Given the description of an element on the screen output the (x, y) to click on. 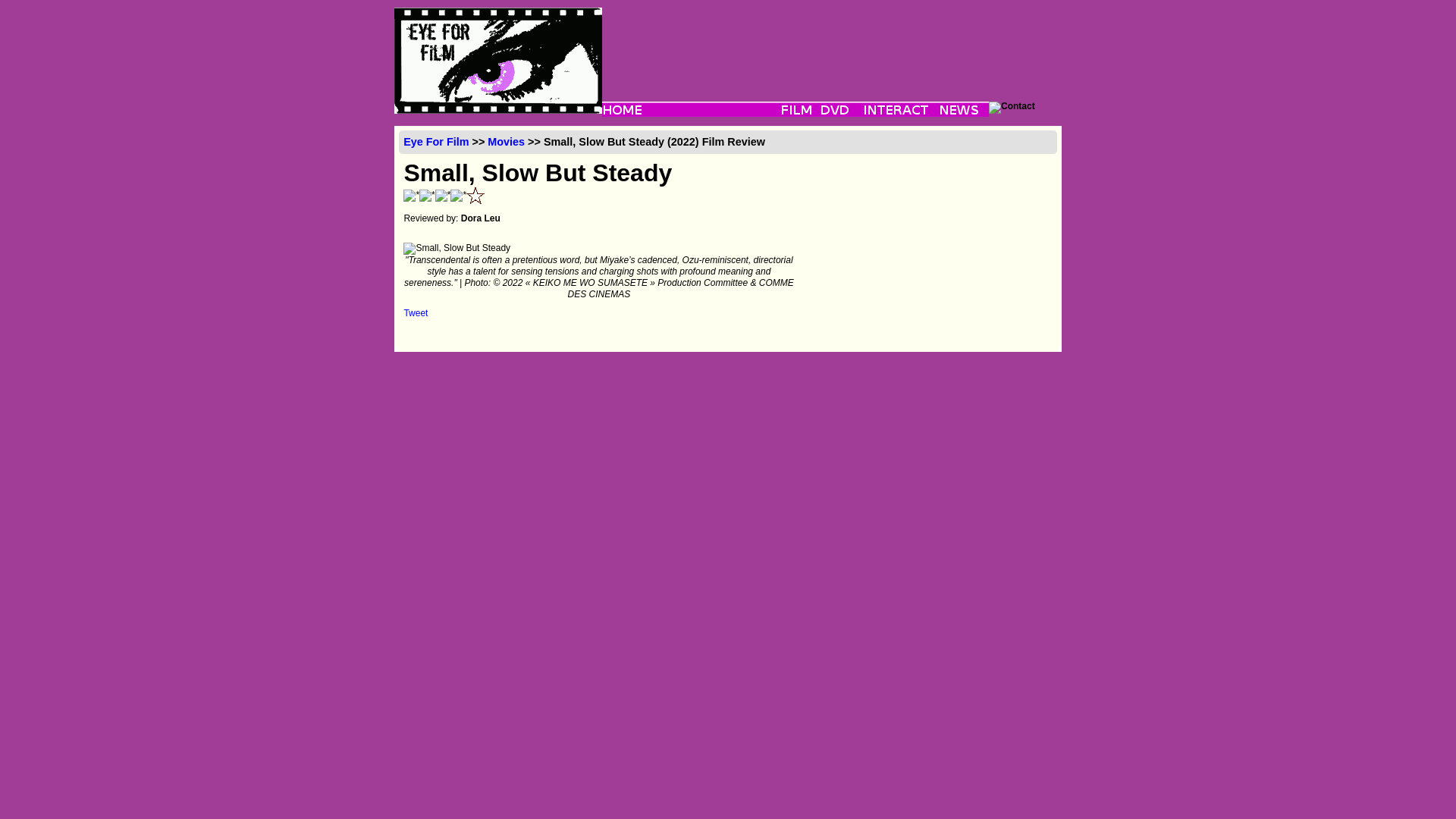
Movies (505, 141)
Dora Leu (480, 217)
Tweet (415, 312)
Eye For Film (435, 141)
